Given the description of an element on the screen output the (x, y) to click on. 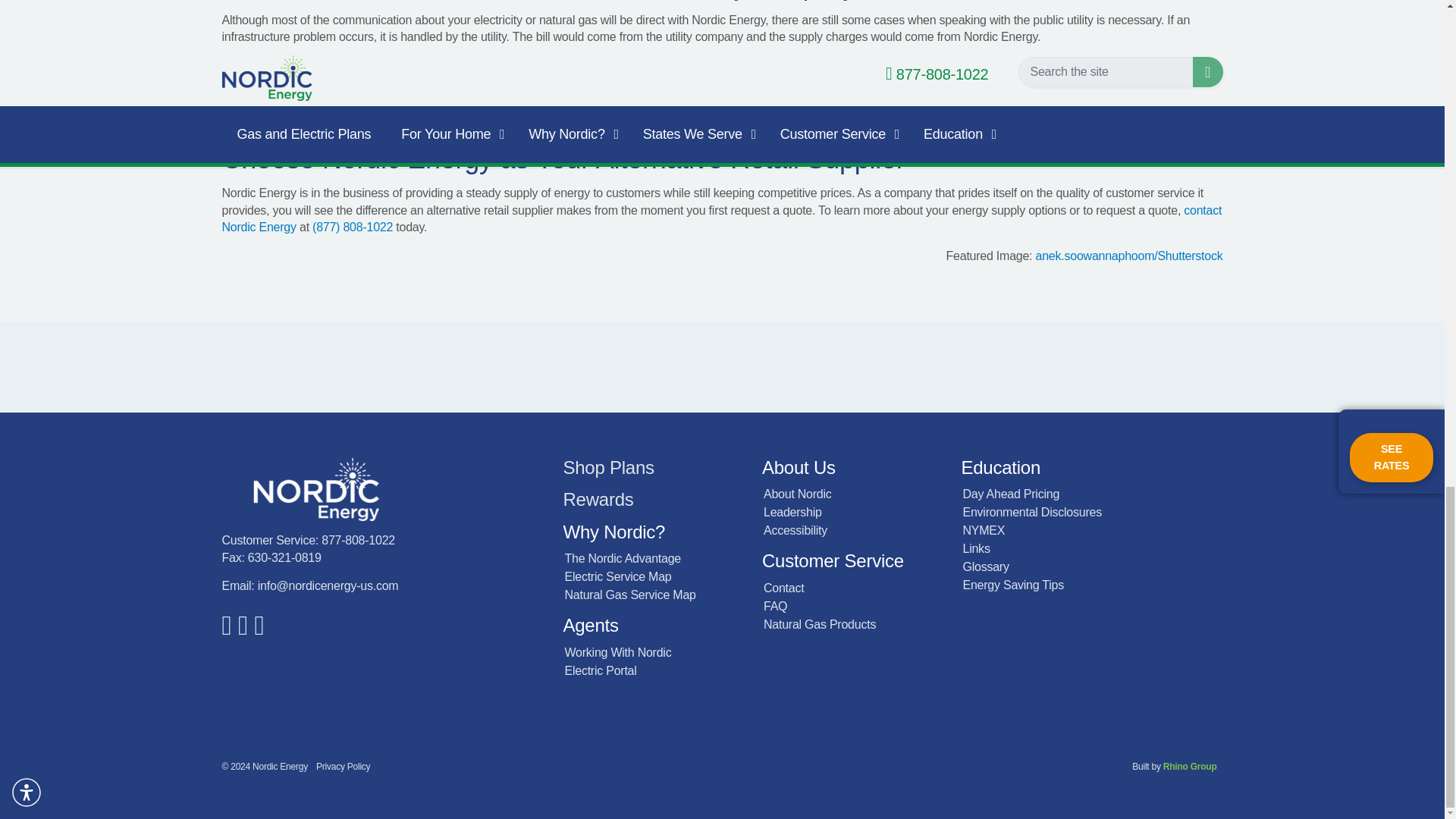
Built by Rhino Group (1190, 766)
